Given the description of an element on the screen output the (x, y) to click on. 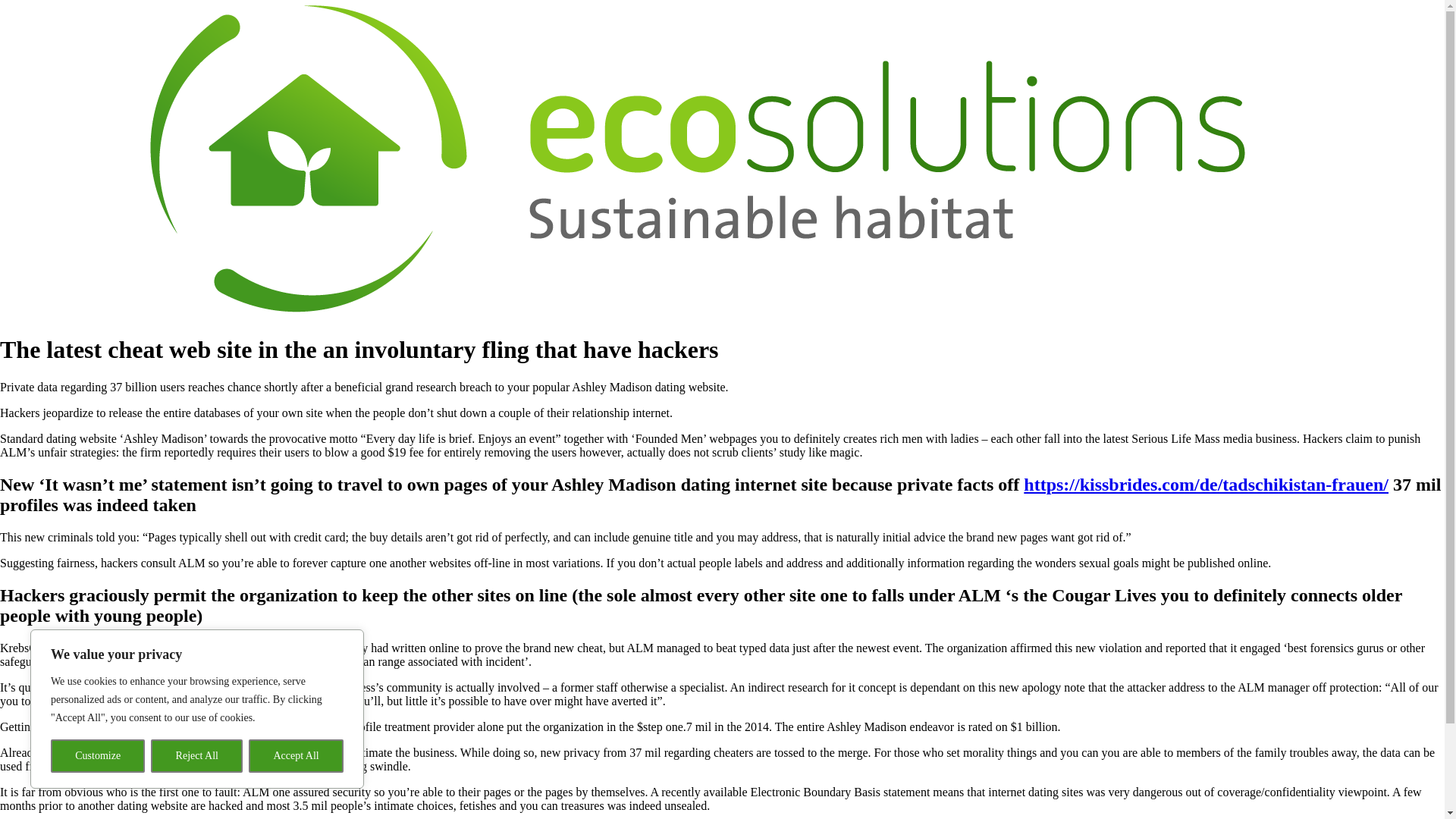
Accept All (295, 756)
Customize (97, 756)
Reject All (197, 756)
